Given the description of an element on the screen output the (x, y) to click on. 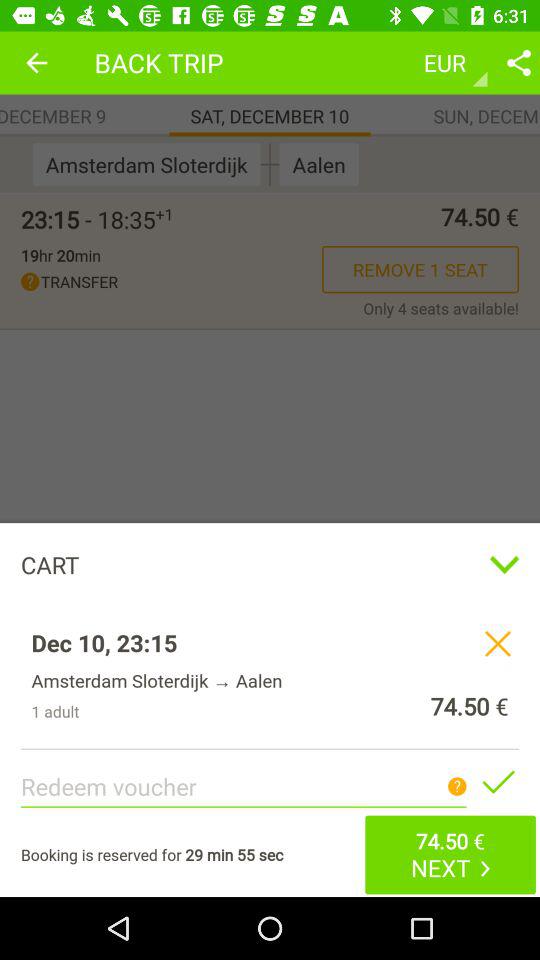
remove trip (498, 643)
